Given the description of an element on the screen output the (x, y) to click on. 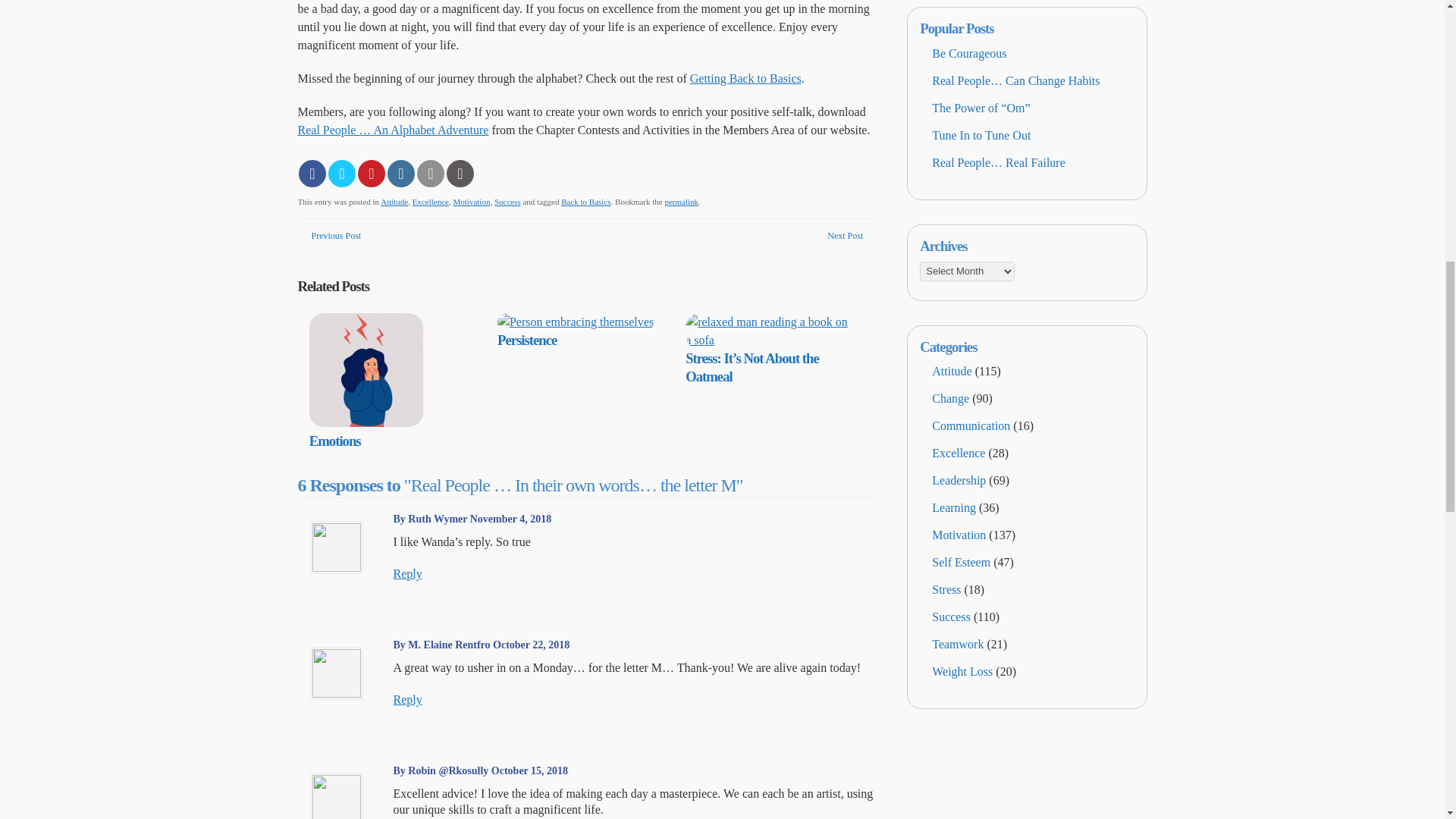
Share on Pinterest (371, 172)
Motivation (471, 201)
Success (508, 201)
permalink (680, 201)
Next Post (845, 235)
Excellence (430, 201)
Reply (407, 573)
Share on Twitter (342, 172)
Print (460, 172)
Back to Basics (585, 201)
